Given the description of an element on the screen output the (x, y) to click on. 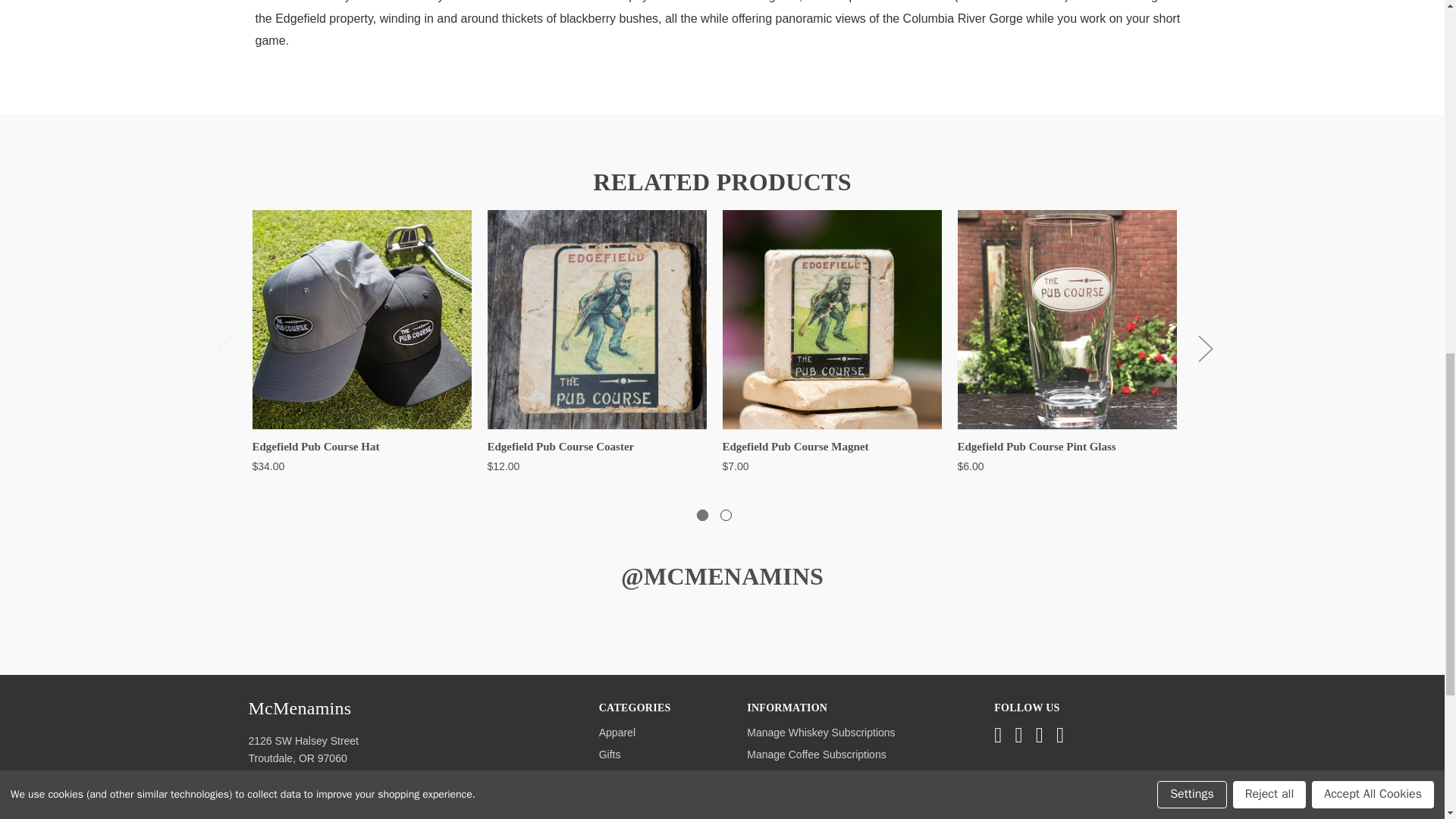
Edgefield Pub Course Magnet (831, 319)
Edgefield Pub Course Coaster (596, 319)
Edgefield Pub Course Pint Glass (1066, 319)
Edgefield Pub Course Hat (360, 319)
